Given the description of an element on the screen output the (x, y) to click on. 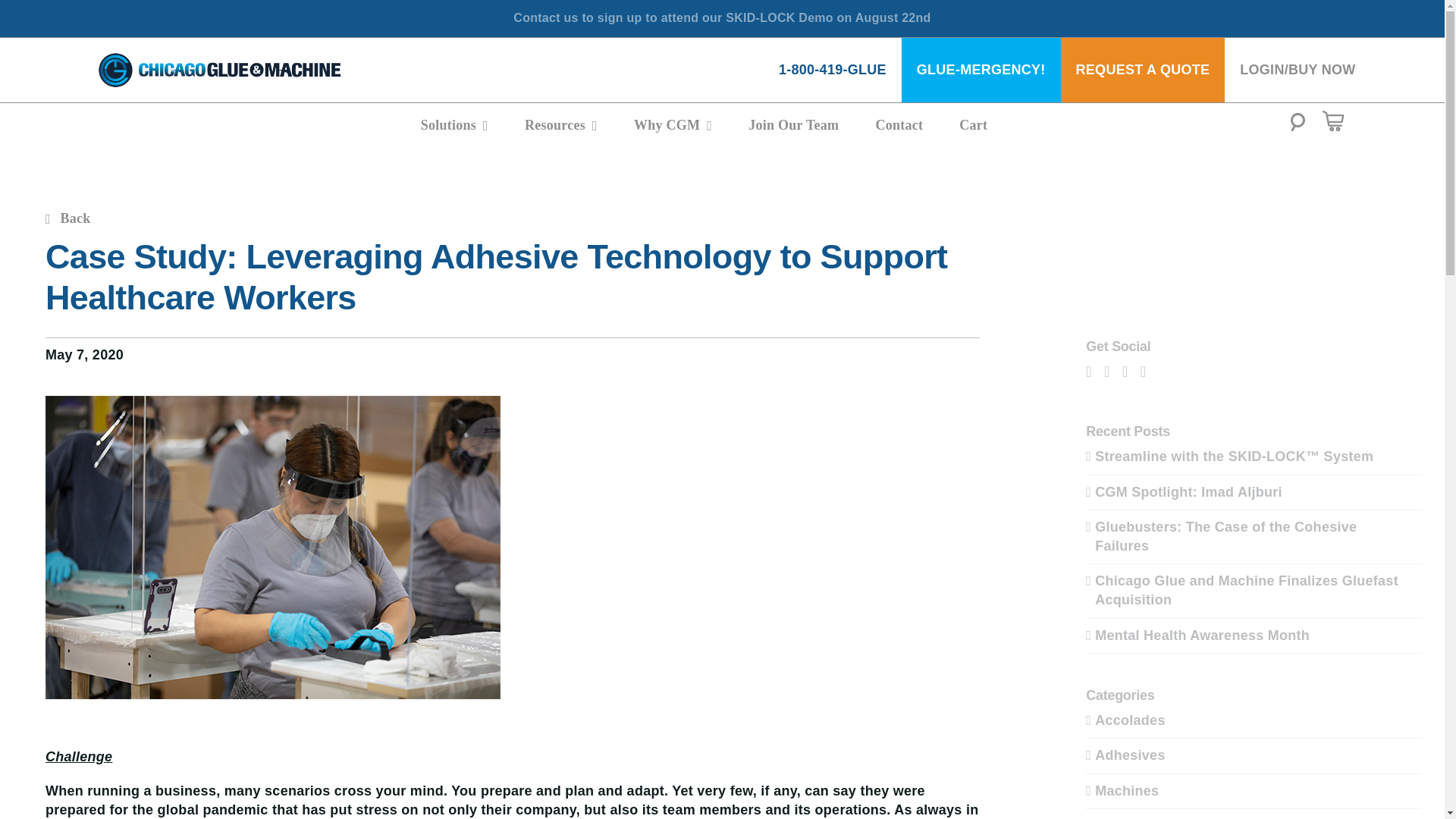
Join Our Team (793, 123)
1-800-419-GLUE (831, 69)
GLUE-MERGENCY! (981, 69)
REQUEST A QUOTE (1143, 69)
Search (1297, 126)
Resources (560, 123)
Solutions (453, 123)
Contact (899, 123)
Why CGM (672, 123)
